Given the description of an element on the screen output the (x, y) to click on. 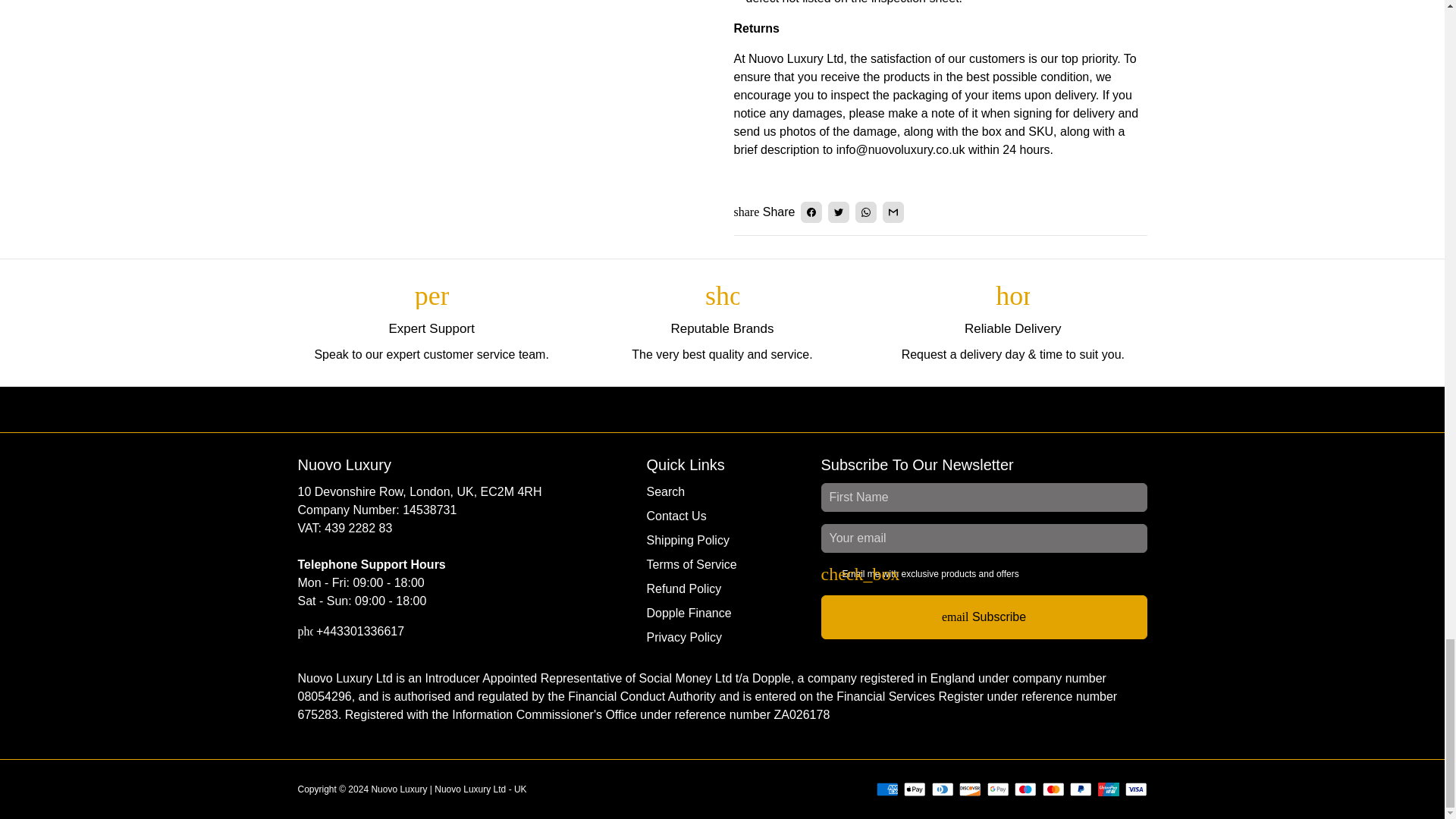
Google Pay (998, 789)
Visa (1136, 789)
Share on Facebook (811, 211)
Apple Pay (915, 789)
Union Pay (1108, 789)
Share on Whatsapp (866, 211)
American Express (887, 789)
Discover (970, 789)
Tweet on Twitter (838, 211)
Diners Club (941, 789)
